Given the description of an element on the screen output the (x, y) to click on. 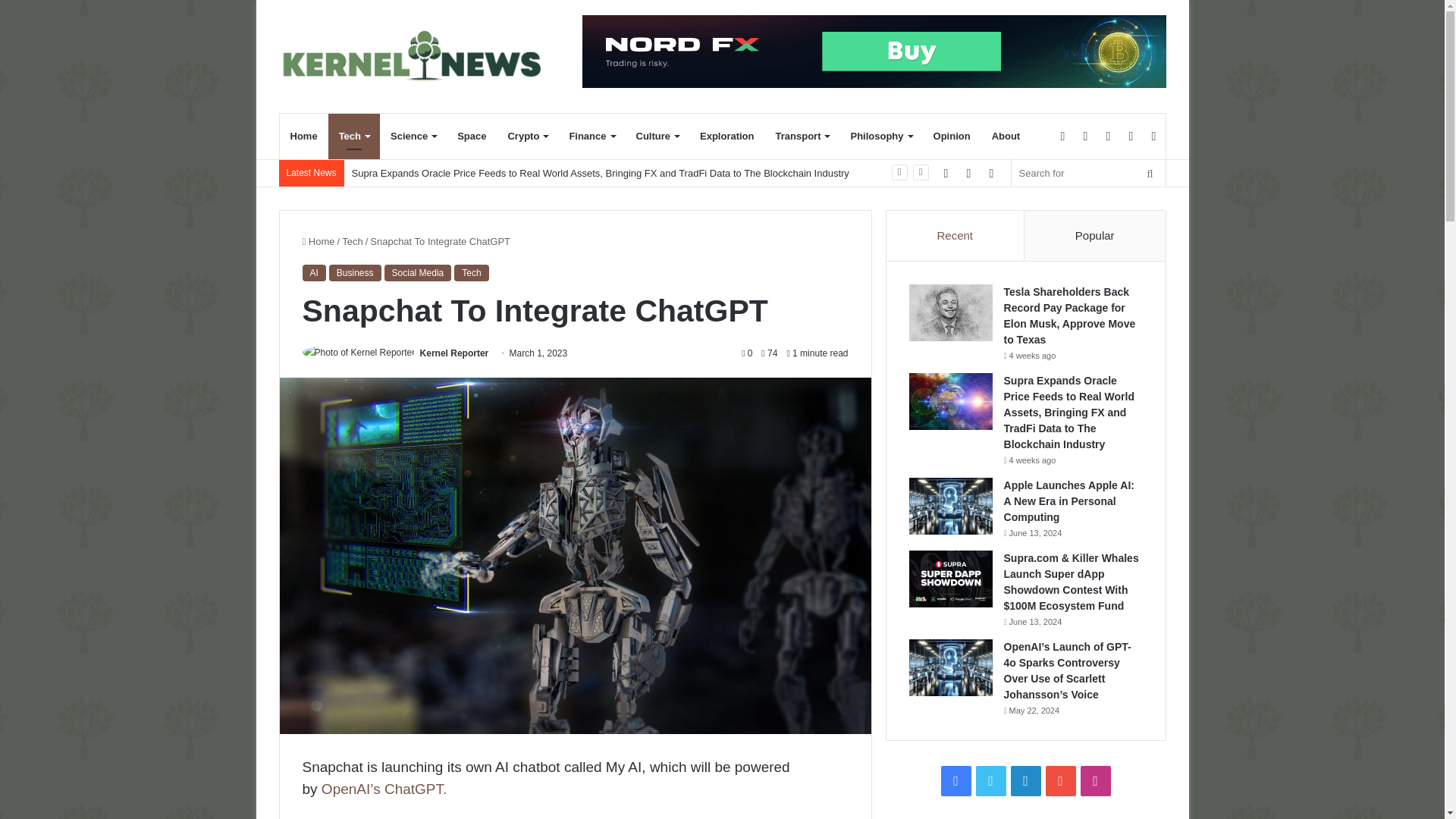
Culture (656, 135)
Tech (354, 135)
Kernel News (419, 56)
Finance (590, 135)
Kernel Reporter (454, 353)
Search for (1088, 172)
Space (471, 135)
Crypto (526, 135)
Science (413, 135)
Home (303, 135)
